Given the description of an element on the screen output the (x, y) to click on. 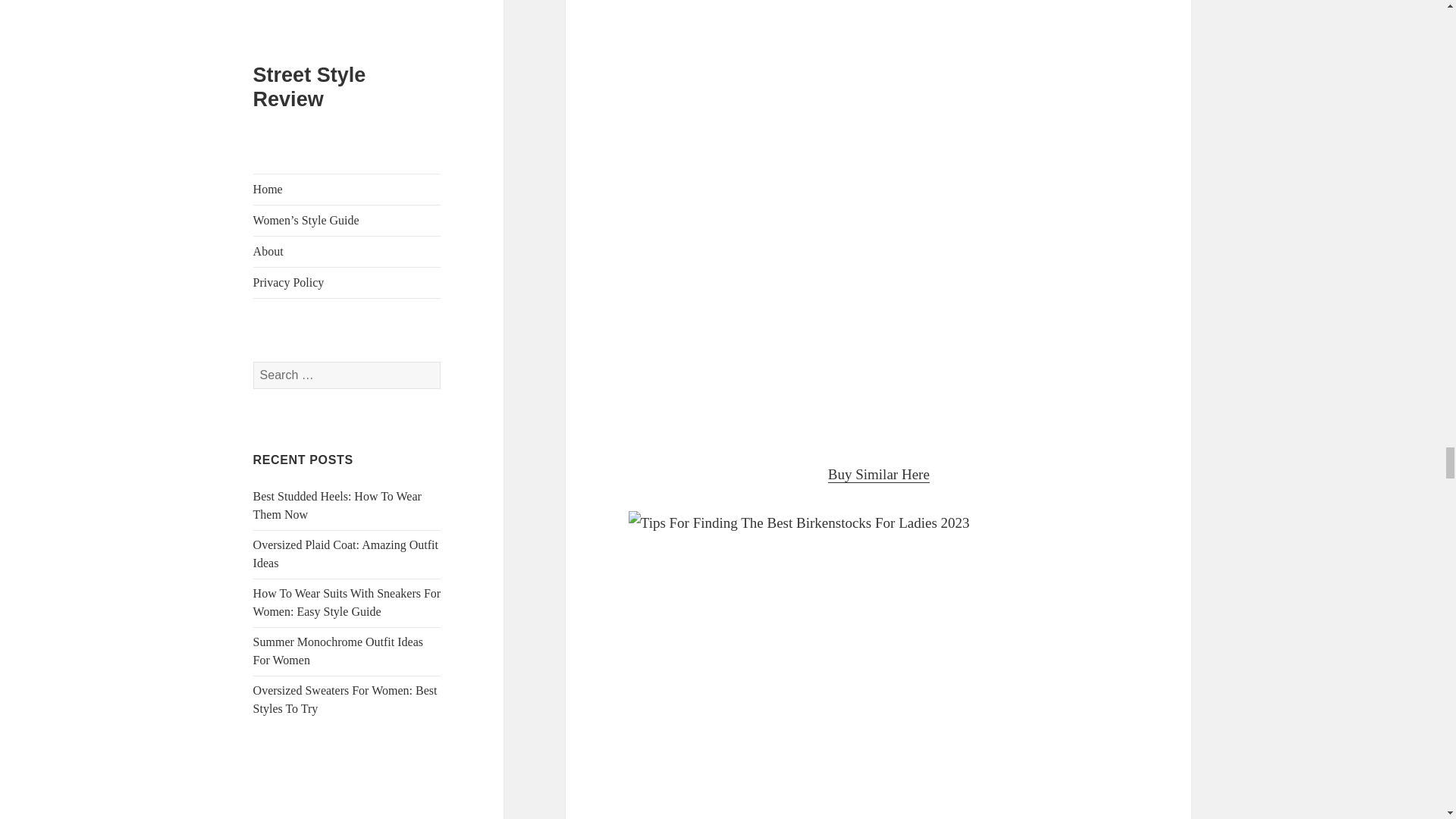
Buy Similar Here (879, 474)
